Given the description of an element on the screen output the (x, y) to click on. 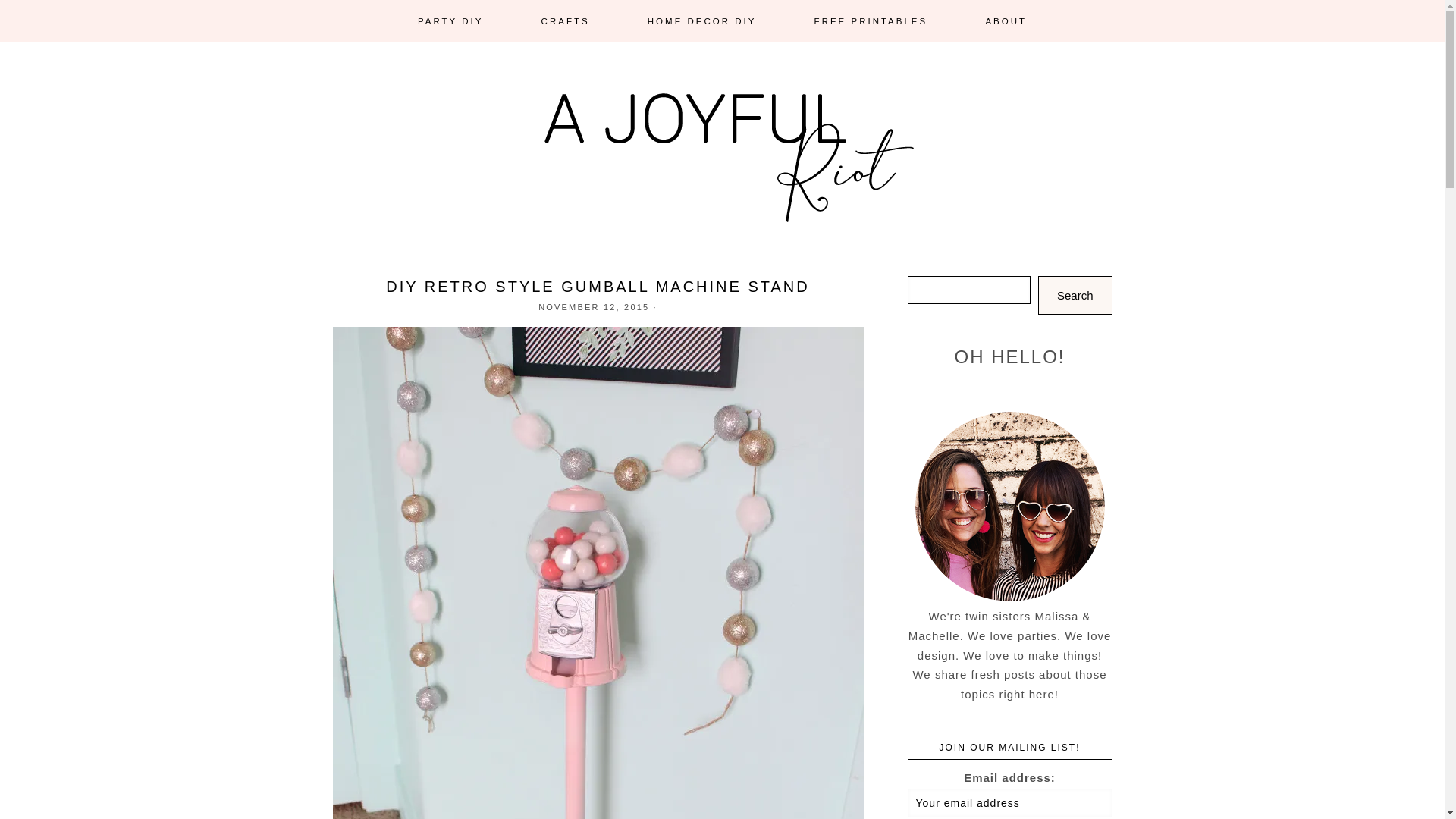
CRAFTS (565, 21)
HOME DECOR DIY (702, 21)
Search (1075, 295)
FREE PRINTABLES (871, 21)
ABOUT (1006, 21)
DIY RETRO STYLE GUMBALL MACHINE STAND (597, 286)
A JOYFUL RIOT (721, 174)
PARTY DIY (450, 21)
